Given the description of an element on the screen output the (x, y) to click on. 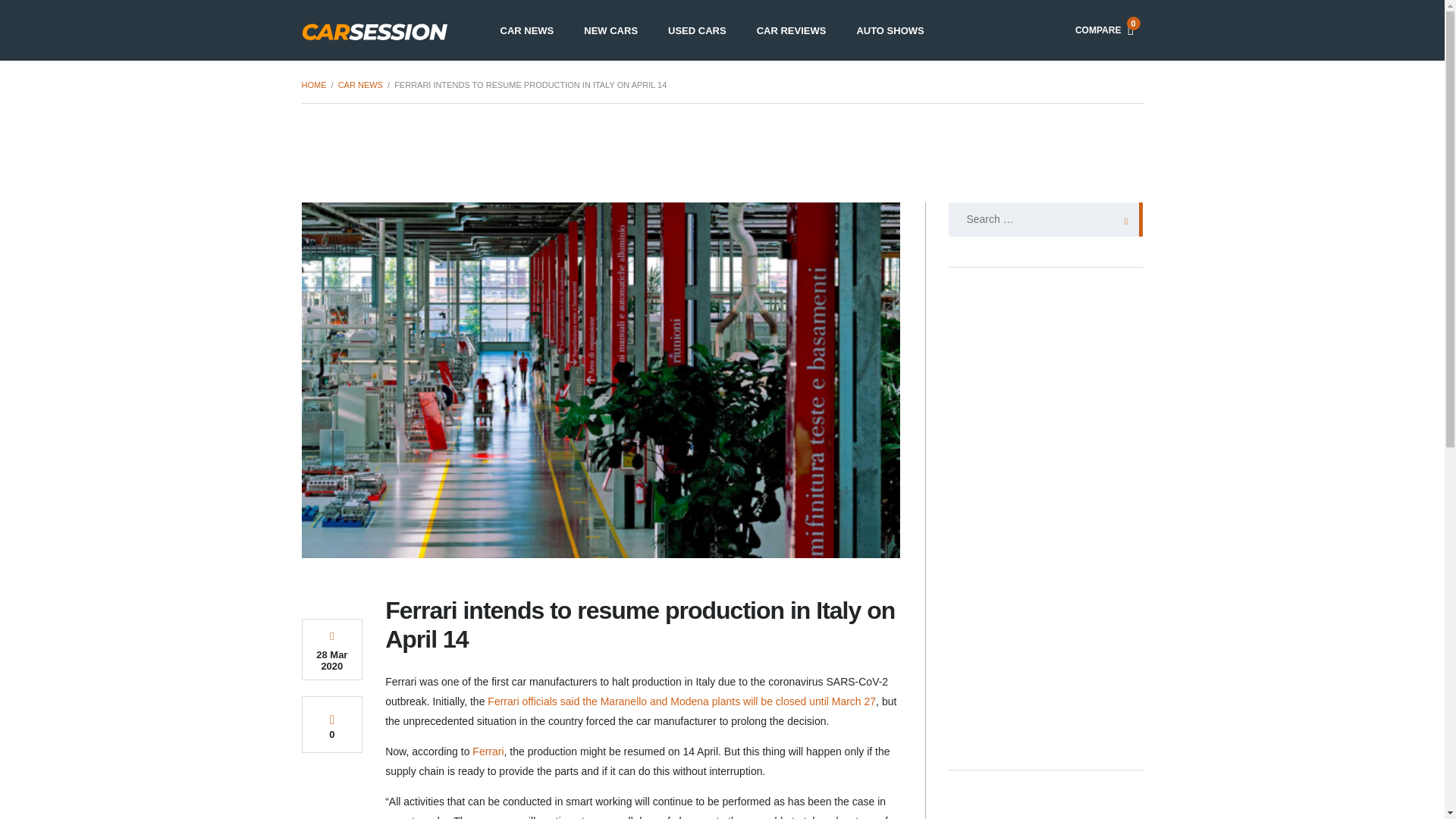
CAR NEWS (359, 84)
Go to Car News (359, 84)
USED CARS (696, 29)
CAR REVIEWS (791, 29)
HOME (313, 84)
AUTO SHOWS (890, 29)
View compared items (1104, 30)
NEW CARS (610, 29)
Ferrari (487, 751)
CAR NEWS (526, 29)
Search (1121, 219)
Home (313, 84)
Home (1104, 30)
